Given the description of an element on the screen output the (x, y) to click on. 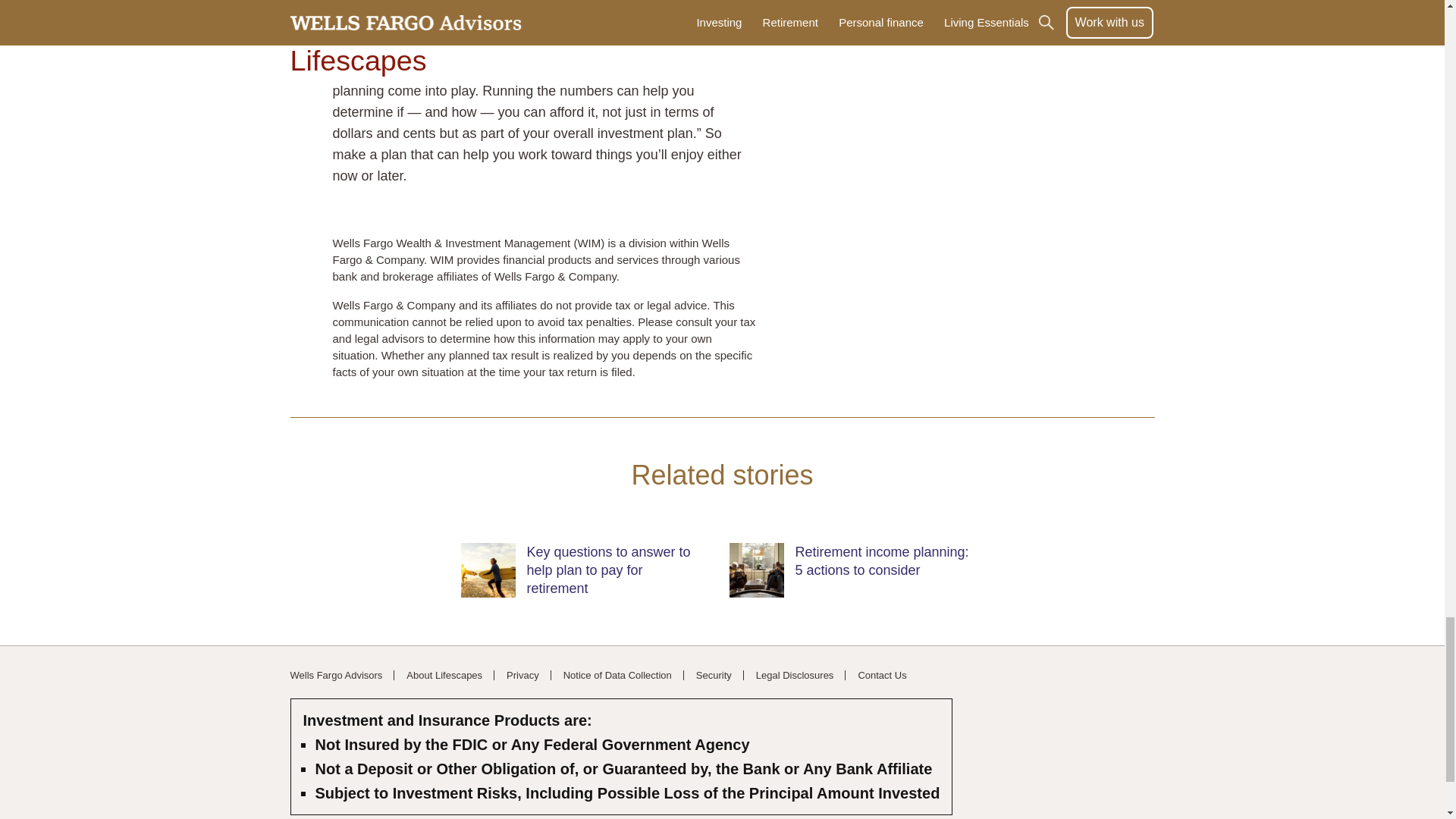
Key questions to answer to help plan to pay for retirement (607, 570)
